Given the description of an element on the screen output the (x, y) to click on. 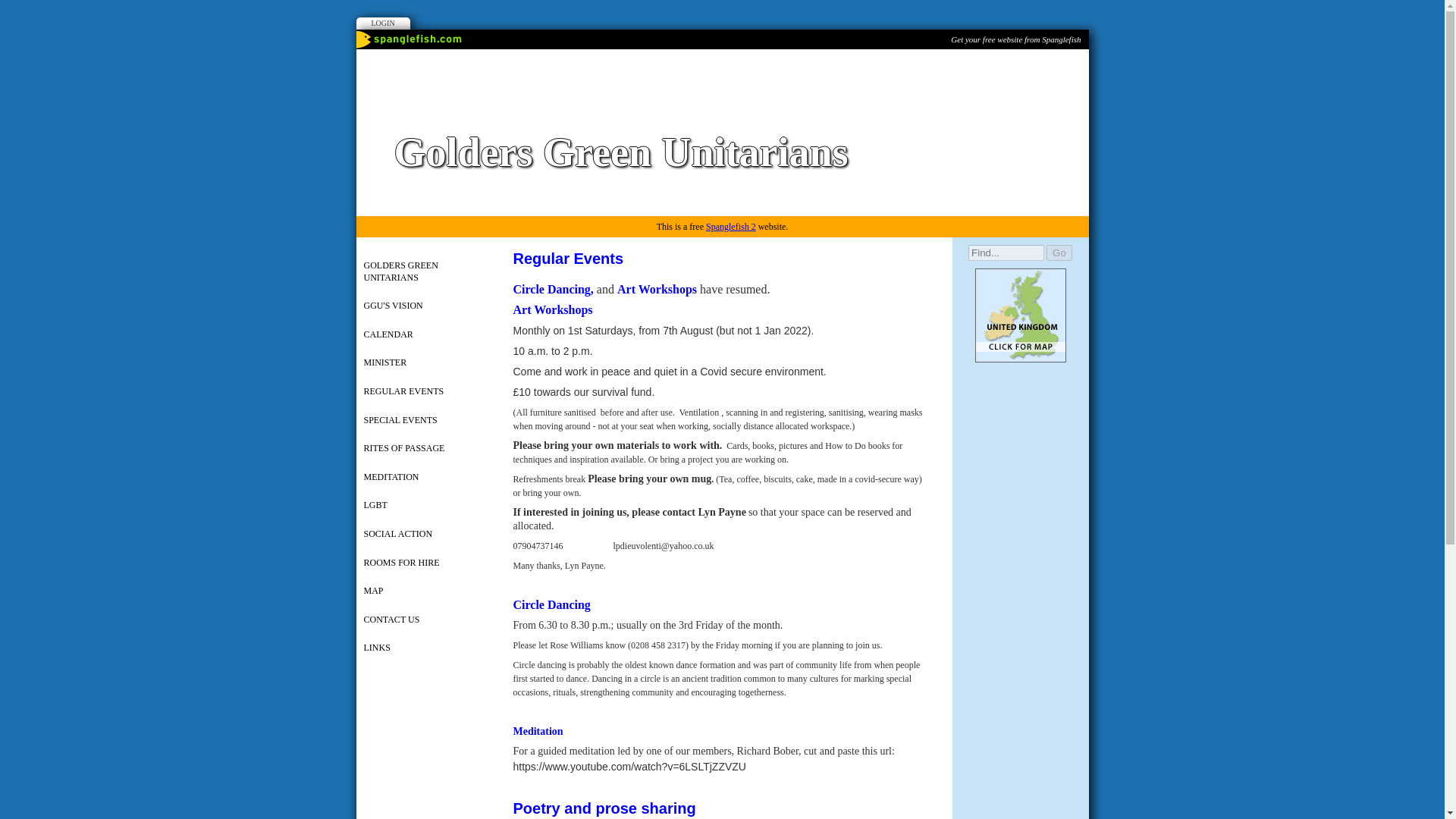
Skip to Main Content (725, 10)
RITES OF PASSAGE (424, 449)
SOCIAL ACTION (424, 534)
SPECIAL EVENTS (424, 421)
GGU'S VISION (424, 306)
Get your free website from Spanglefish (1015, 39)
LOGIN (383, 23)
ROOMS FOR HIRE (424, 563)
Go (1058, 252)
GOLDERS GREEN UNITARIANS (424, 272)
LINKS (424, 648)
Free website (1015, 39)
CALENDAR (424, 335)
LGBT (424, 506)
MEDITATION (424, 478)
